Given the description of an element on the screen output the (x, y) to click on. 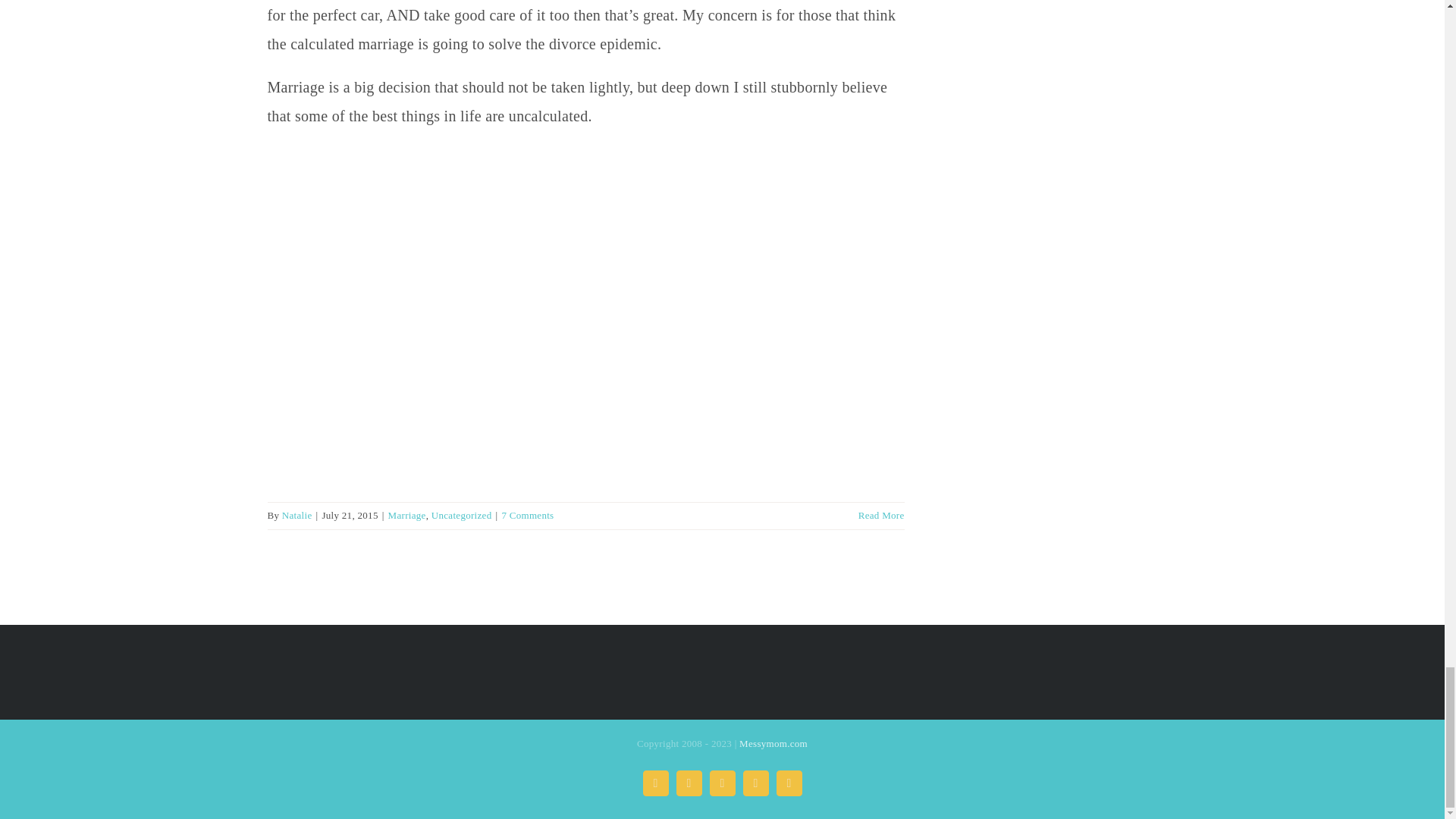
Posts by Natalie (297, 514)
Facebook (655, 783)
Instagram (722, 783)
X (689, 783)
